Given the description of an element on the screen output the (x, y) to click on. 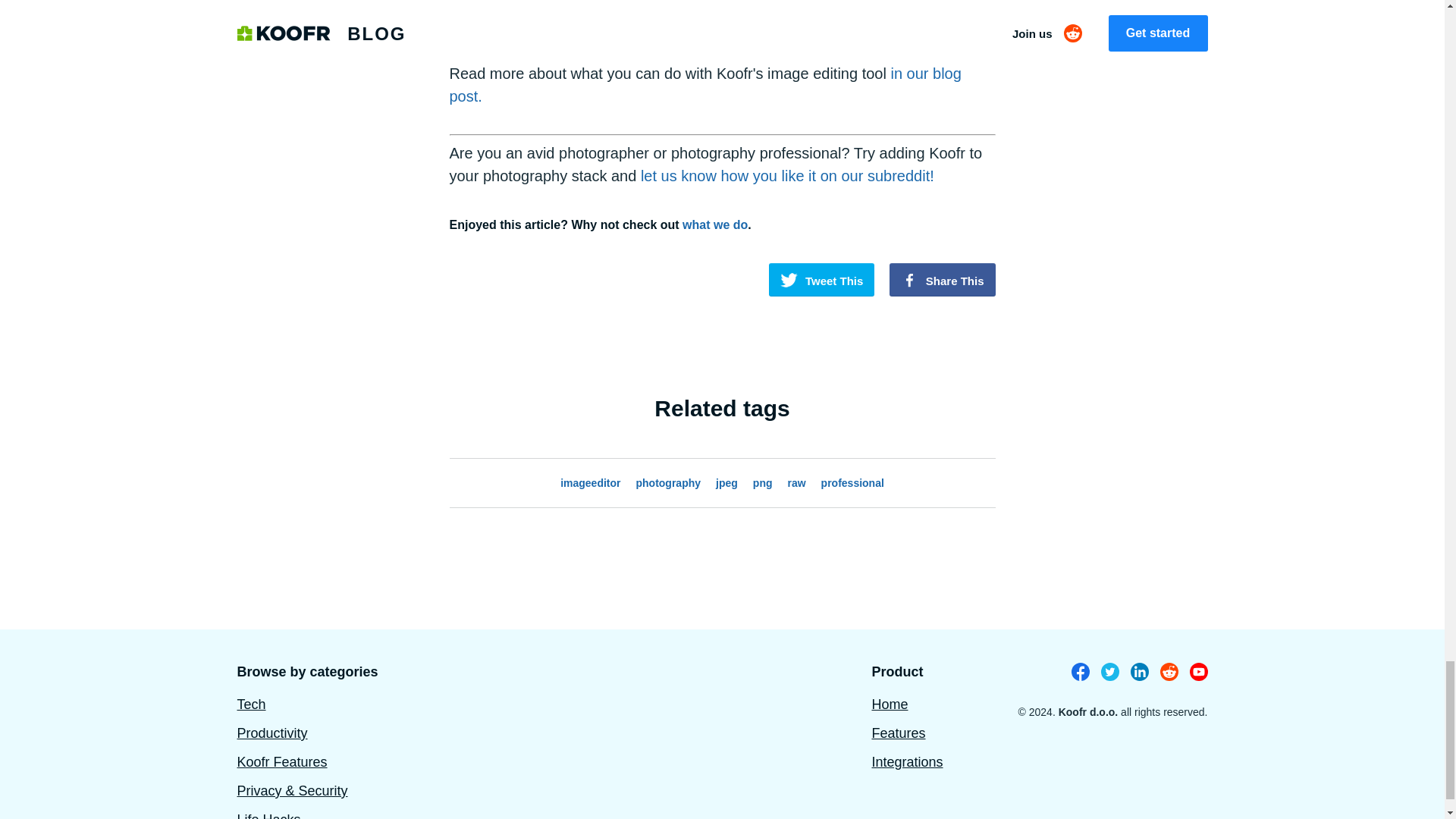
png (762, 482)
in our blog post. (704, 84)
Productivity (271, 733)
Koofr Features (280, 761)
Home (888, 703)
raw (796, 482)
let us know how you like it on our subreddit! (787, 175)
Tweet This (821, 279)
what we do (715, 224)
jpeg (727, 482)
